Given the description of an element on the screen output the (x, y) to click on. 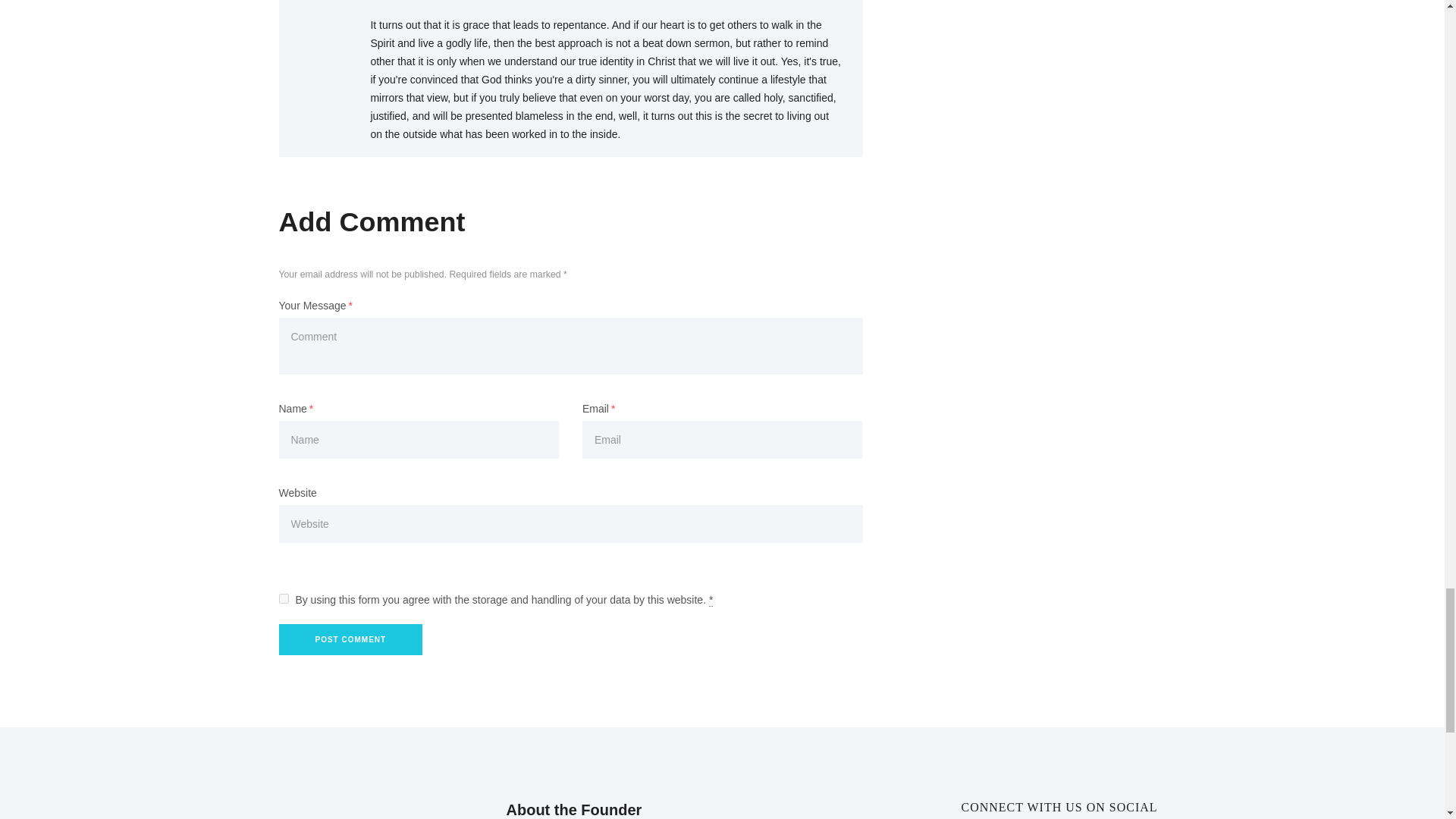
Post Comment (351, 639)
1 (283, 598)
